Given the description of an element on the screen output the (x, y) to click on. 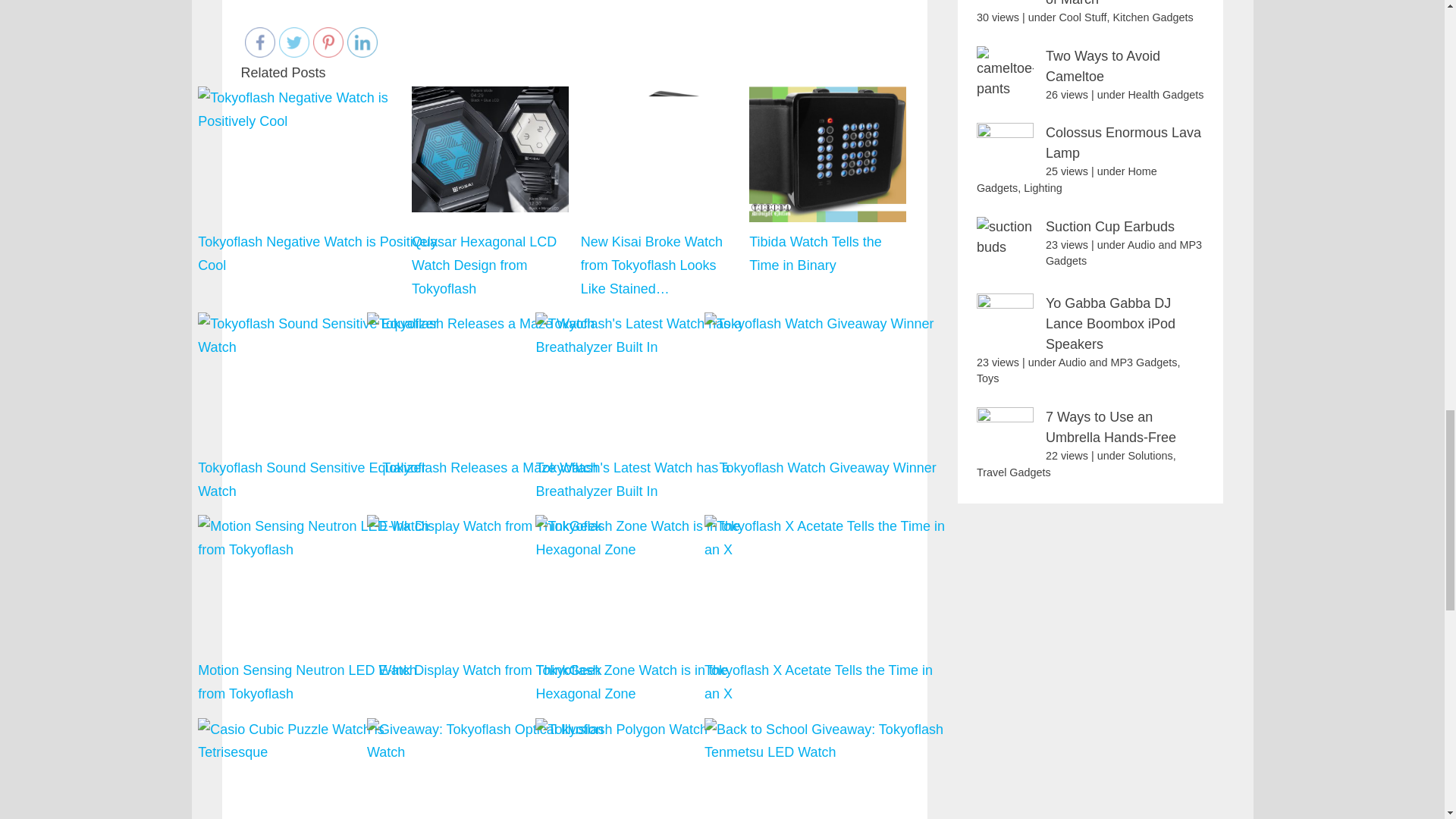
LinkedIn (362, 42)
Casio Cubic Puzzle Watch is Tetrisesque (320, 767)
Tibida Watch Tells the Time in Binary (827, 153)
Quasar Hexagonal LCD Watch Design from Tokyoflash (490, 149)
Facebook (259, 42)
Tokyoflash Negative Watch is Positively Cool (321, 109)
Tokyoflash Sound Sensitive Equalizer Watch (321, 383)
Tokyoflash Polygon Watch (658, 767)
Tokyoflash Watch Giveaway Winner (827, 407)
Motion Sensing Neutron LED Watch from Tokyoflash (320, 609)
Back to School Giveaway: Tokyoflash Tenmetsu LED Watch (827, 767)
Twitter (293, 42)
E-Ink Display Watch from ThinkGeek (490, 609)
Tokyoflash Zone Watch is in the Hexagonal Zone (658, 609)
Tokyoflash's Latest Watch has a Breathalyzer Built In (658, 407)
